Given the description of an element on the screen output the (x, y) to click on. 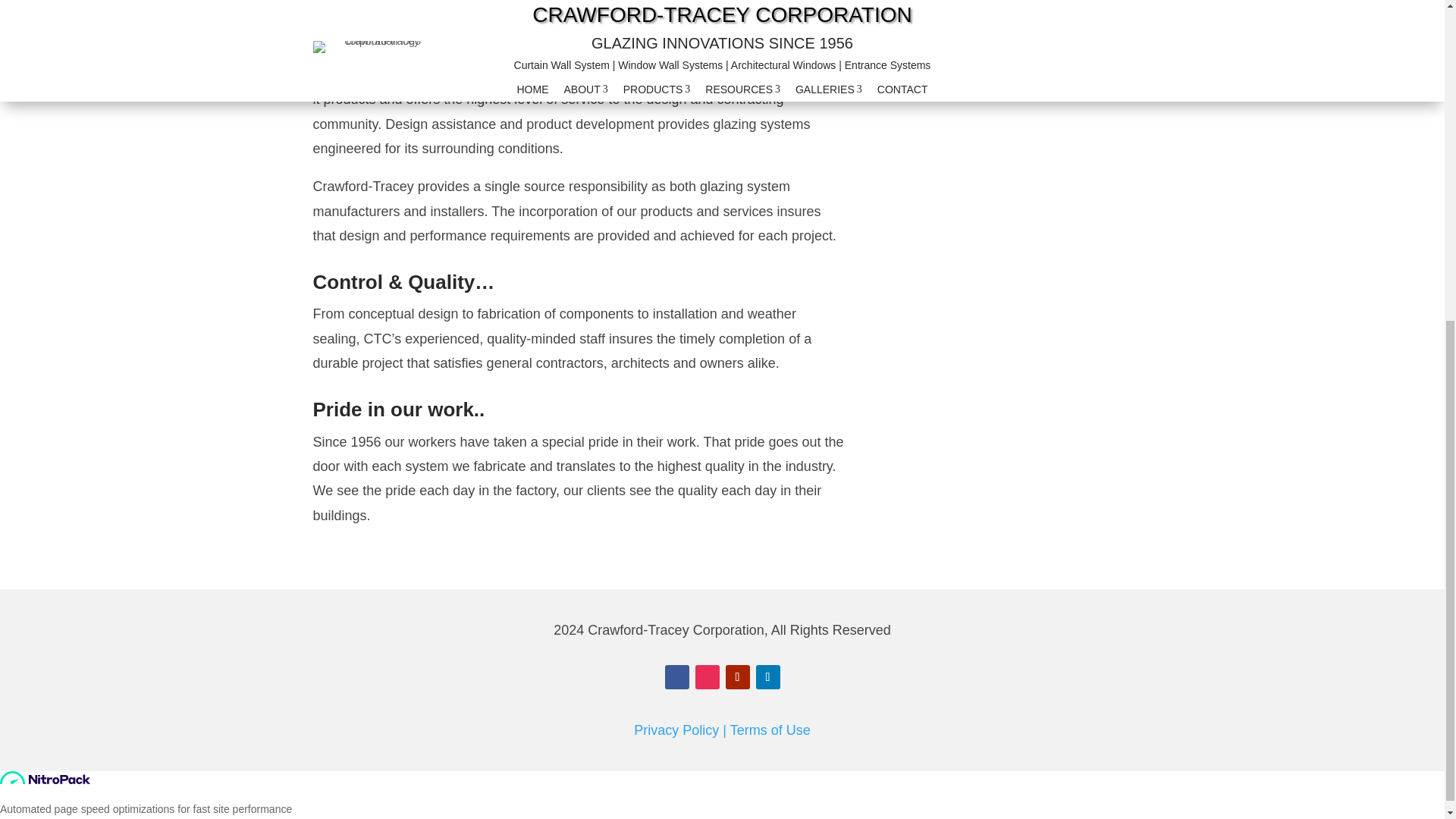
Follow on Instagram (706, 677)
Follow on Facebook (675, 677)
Follow on Youtube (737, 677)
Follow on LinkedIn (766, 677)
